Given the description of an element on the screen output the (x, y) to click on. 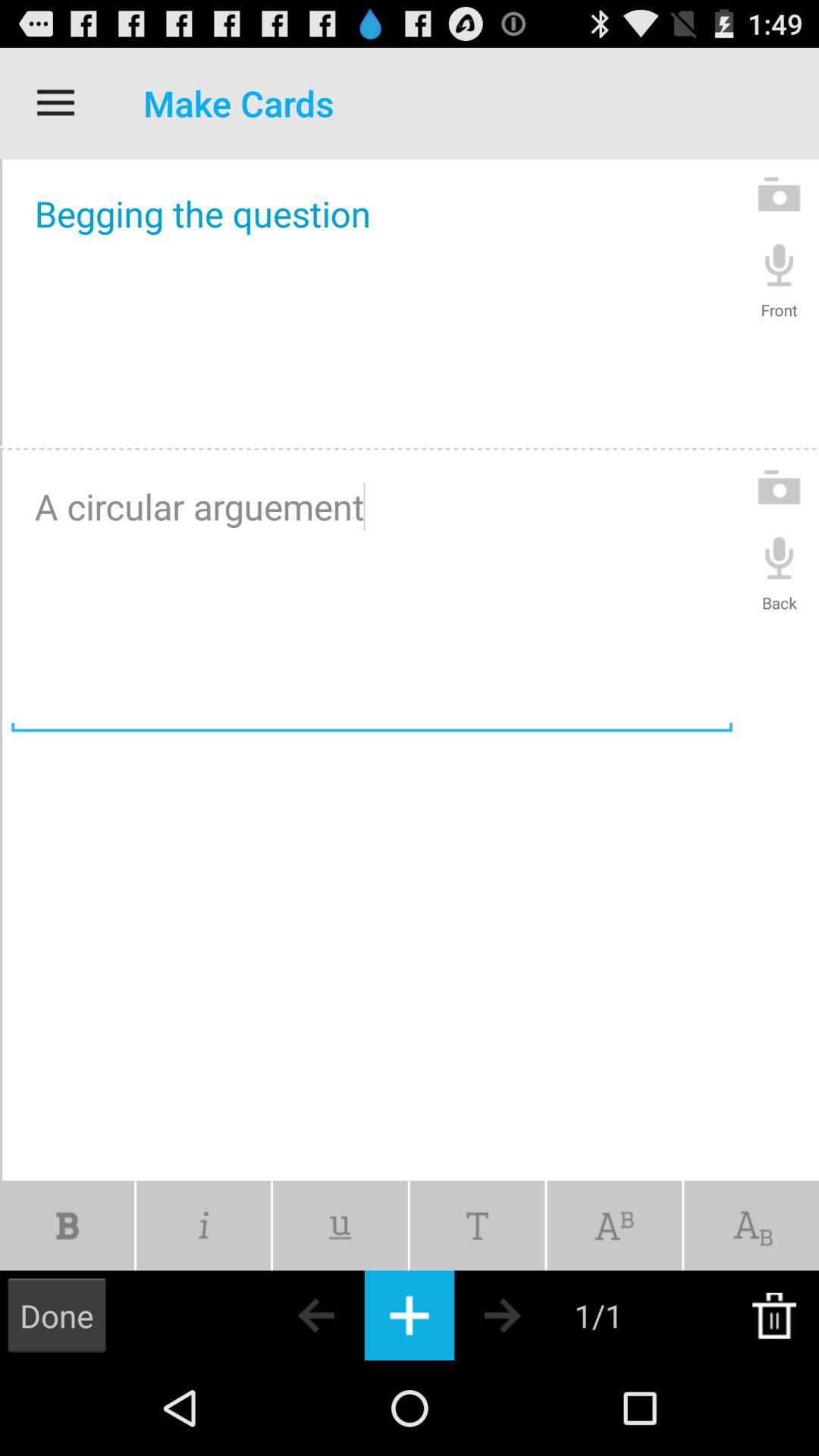
click the item to the left of the make cards icon (55, 103)
